Given the description of an element on the screen output the (x, y) to click on. 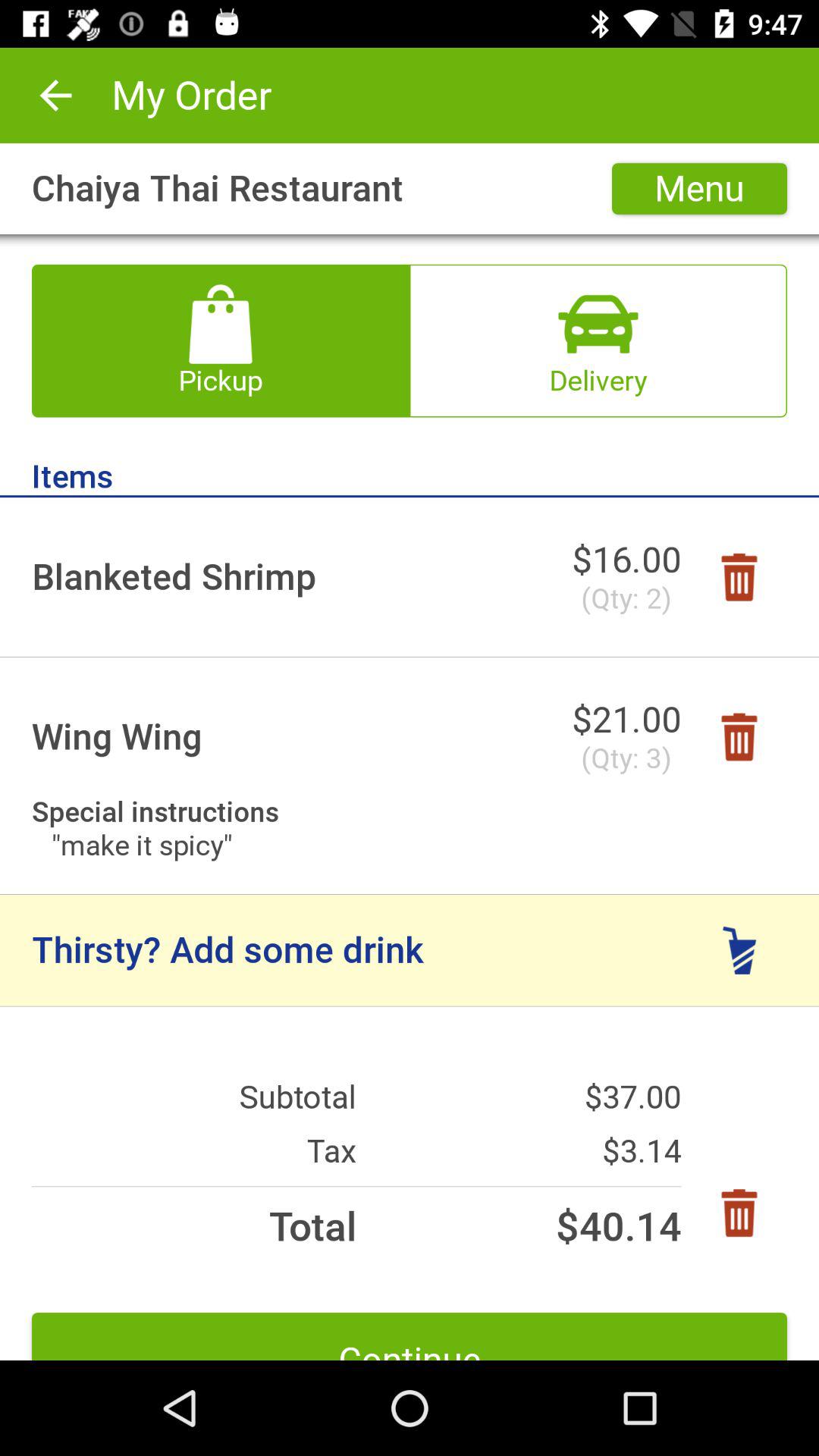
scroll to the menu item (699, 188)
